Given the description of an element on the screen output the (x, y) to click on. 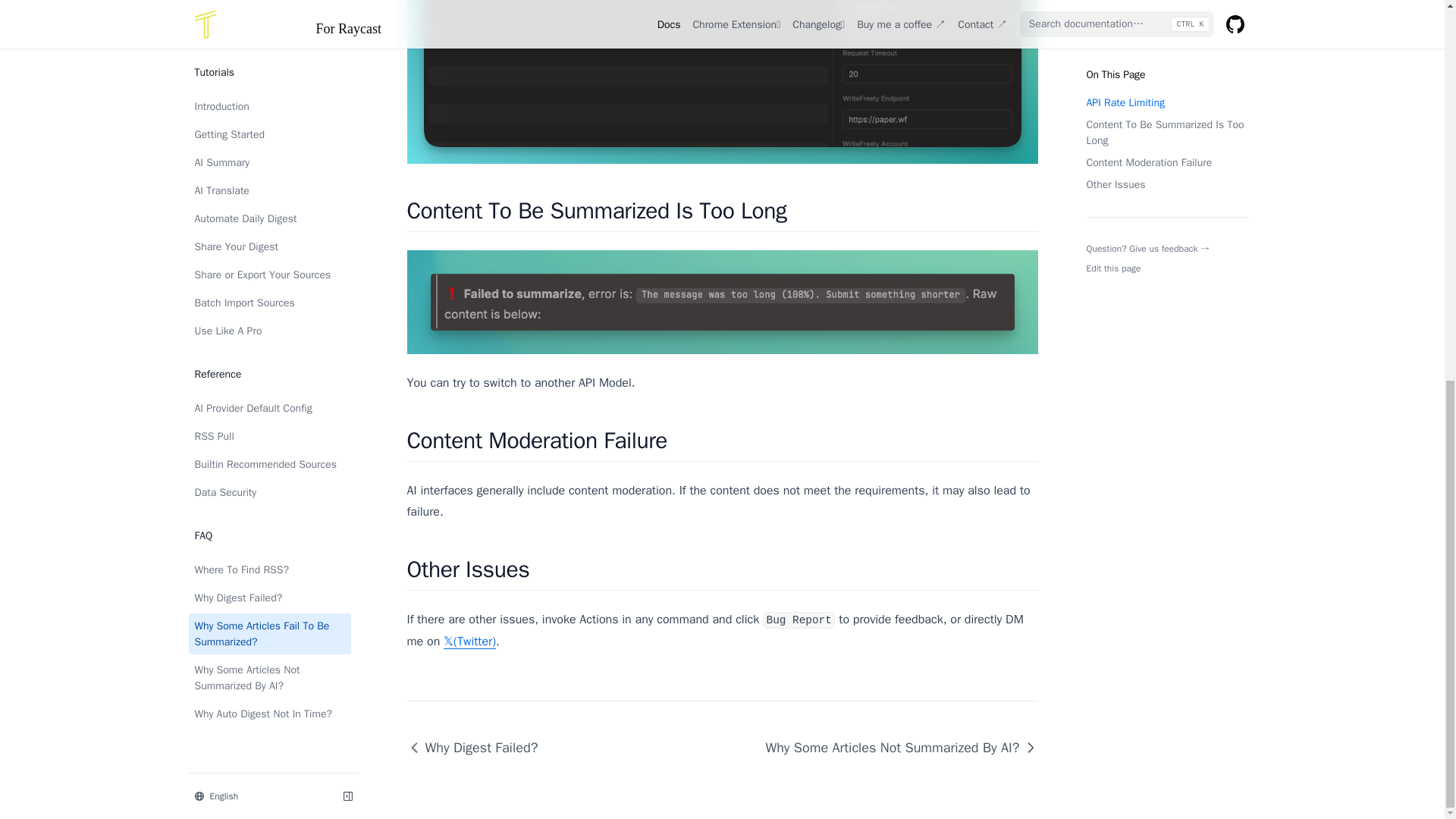
Hide sidebar (347, 86)
Why Auto Digest Not In Time? (268, 35)
English (258, 86)
Change language (258, 86)
Why Some Articles Not Summarized By AI? (268, 10)
Why Digest Failed? (478, 747)
Why Some Articles Not Summarized By AI? (894, 747)
